Given the description of an element on the screen output the (x, y) to click on. 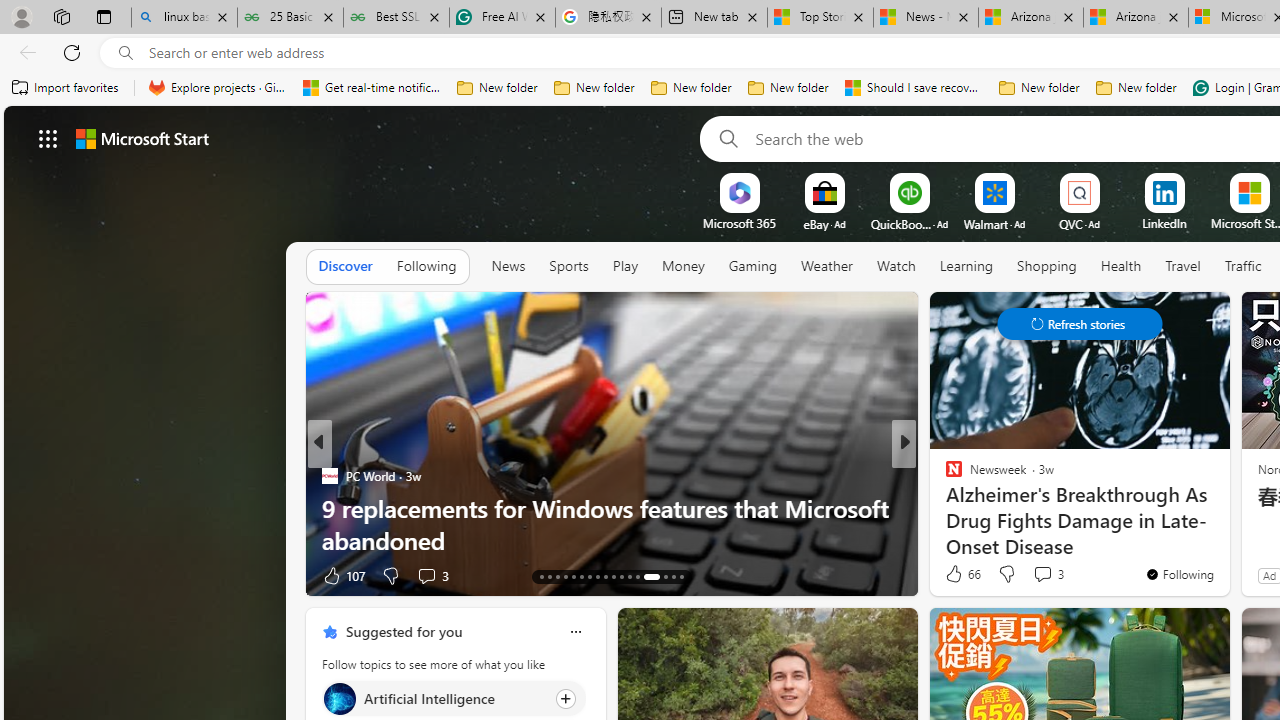
107 Like (342, 574)
AutomationID: tab-13 (541, 576)
Travel (1183, 267)
AutomationID: tab-21 (605, 576)
AutomationID: waffle (47, 138)
AutomationID: tab-15 (556, 576)
Ad Choice (287, 575)
Weather (826, 267)
AutomationID: tab-22 (613, 576)
